Given the description of an element on the screen output the (x, y) to click on. 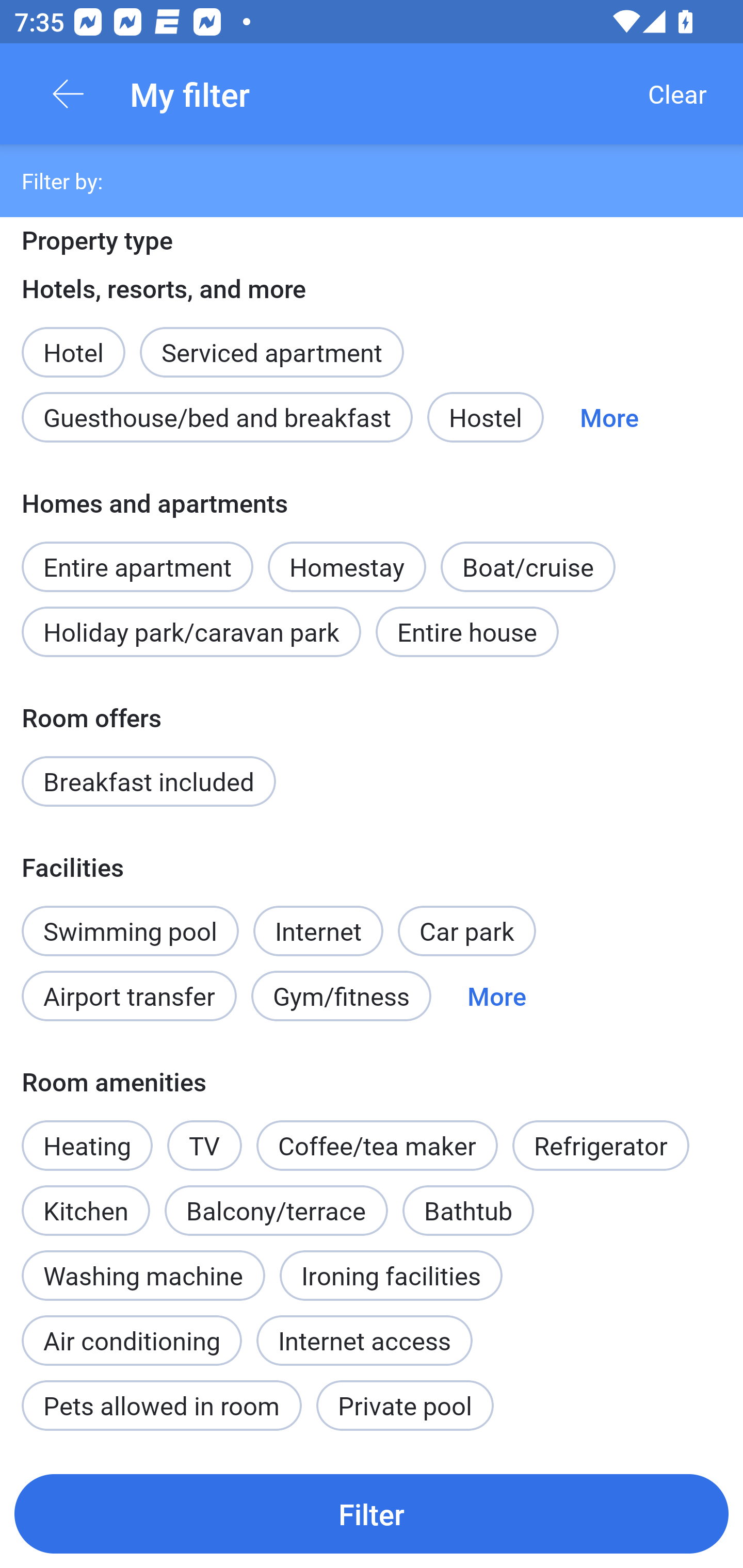
Clear (676, 93)
Hotel (73, 340)
Serviced apartment (271, 340)
Guesthouse/bed and breakfast (217, 416)
Hostel (485, 416)
More (608, 416)
Entire apartment (137, 555)
Homestay (346, 566)
Boat/cruise (527, 566)
Holiday park/caravan park (191, 631)
Entire house (466, 631)
Breakfast included (148, 781)
Swimming pool (130, 930)
Internet (318, 920)
Car park (466, 930)
Airport transfer (129, 996)
Gym/fitness (341, 996)
More (496, 996)
Heating (87, 1145)
TV (204, 1145)
Coffee/tea maker (376, 1145)
Refrigerator (600, 1145)
Kitchen (85, 1199)
Balcony/terrace (275, 1210)
Bathtub (468, 1210)
Washing machine (143, 1275)
Ironing facilities (390, 1275)
Air conditioning (131, 1329)
Internet access (364, 1340)
Pets allowed in room (161, 1405)
Private pool (405, 1405)
Filter (371, 1513)
